Given the description of an element on the screen output the (x, y) to click on. 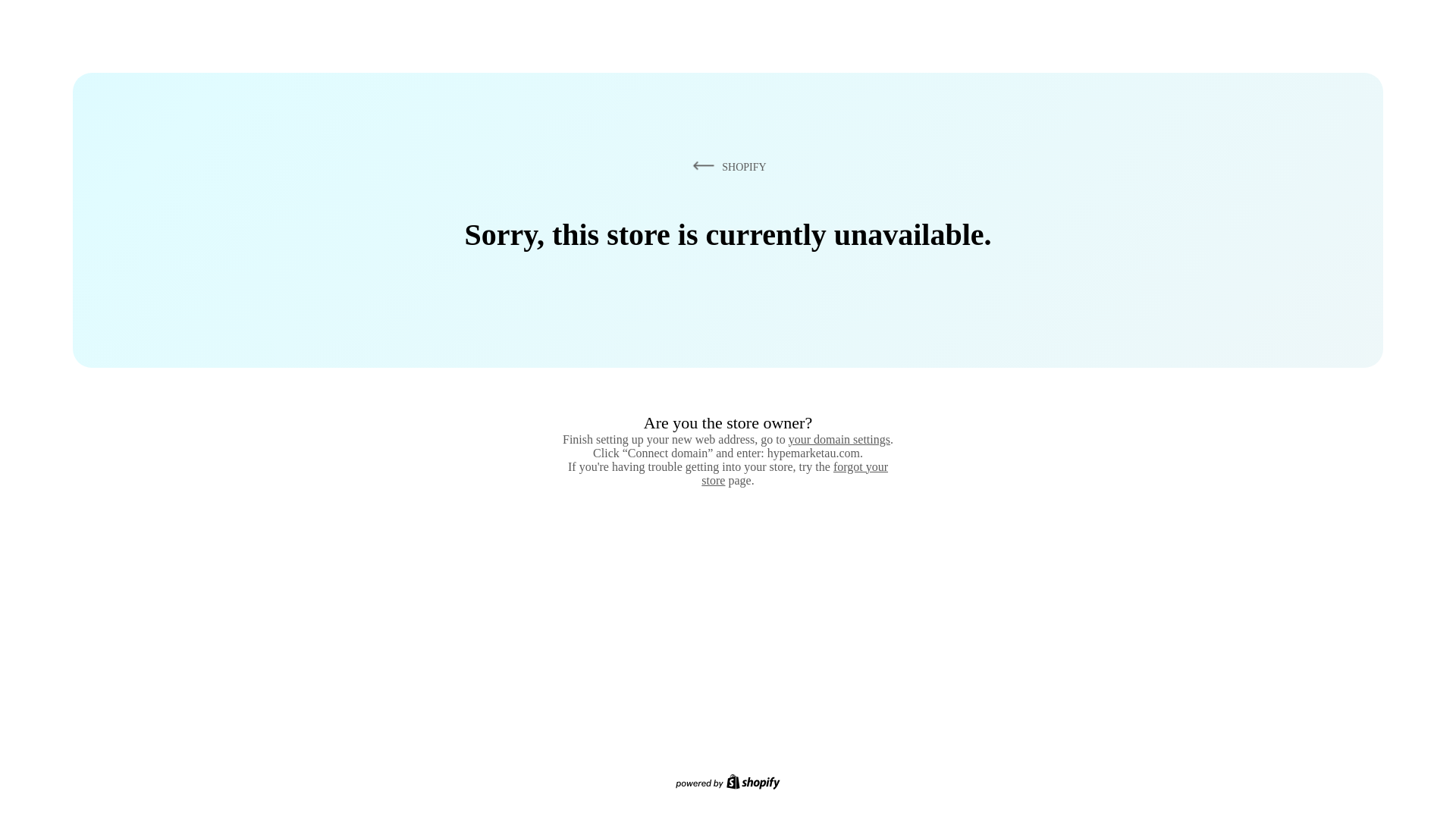
your domain settings (839, 439)
SHOPIFY (726, 166)
forgot your store (794, 473)
